Given the description of an element on the screen output the (x, y) to click on. 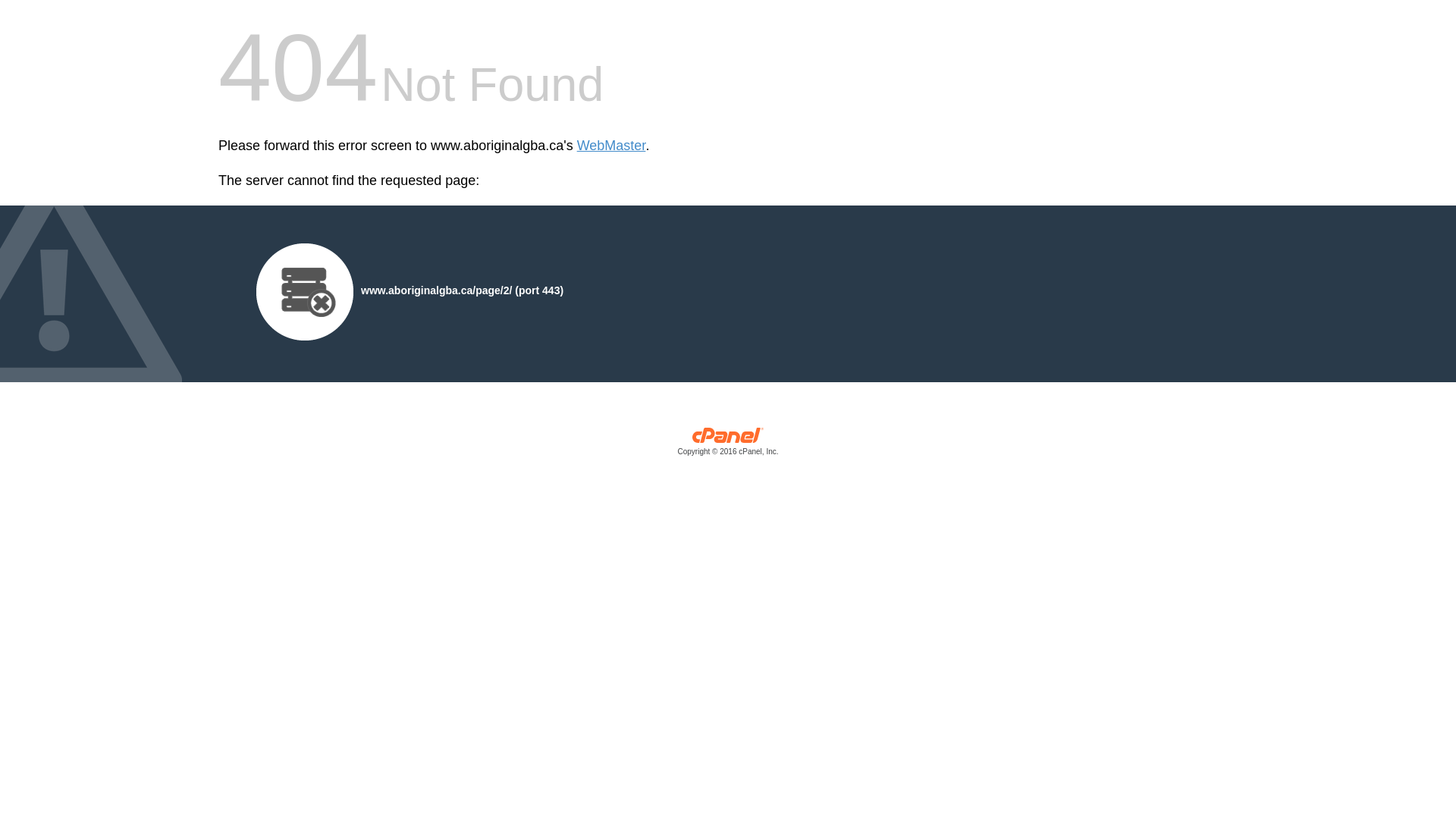
WebMaster Element type: text (611, 145)
